Given the description of an element on the screen output the (x, y) to click on. 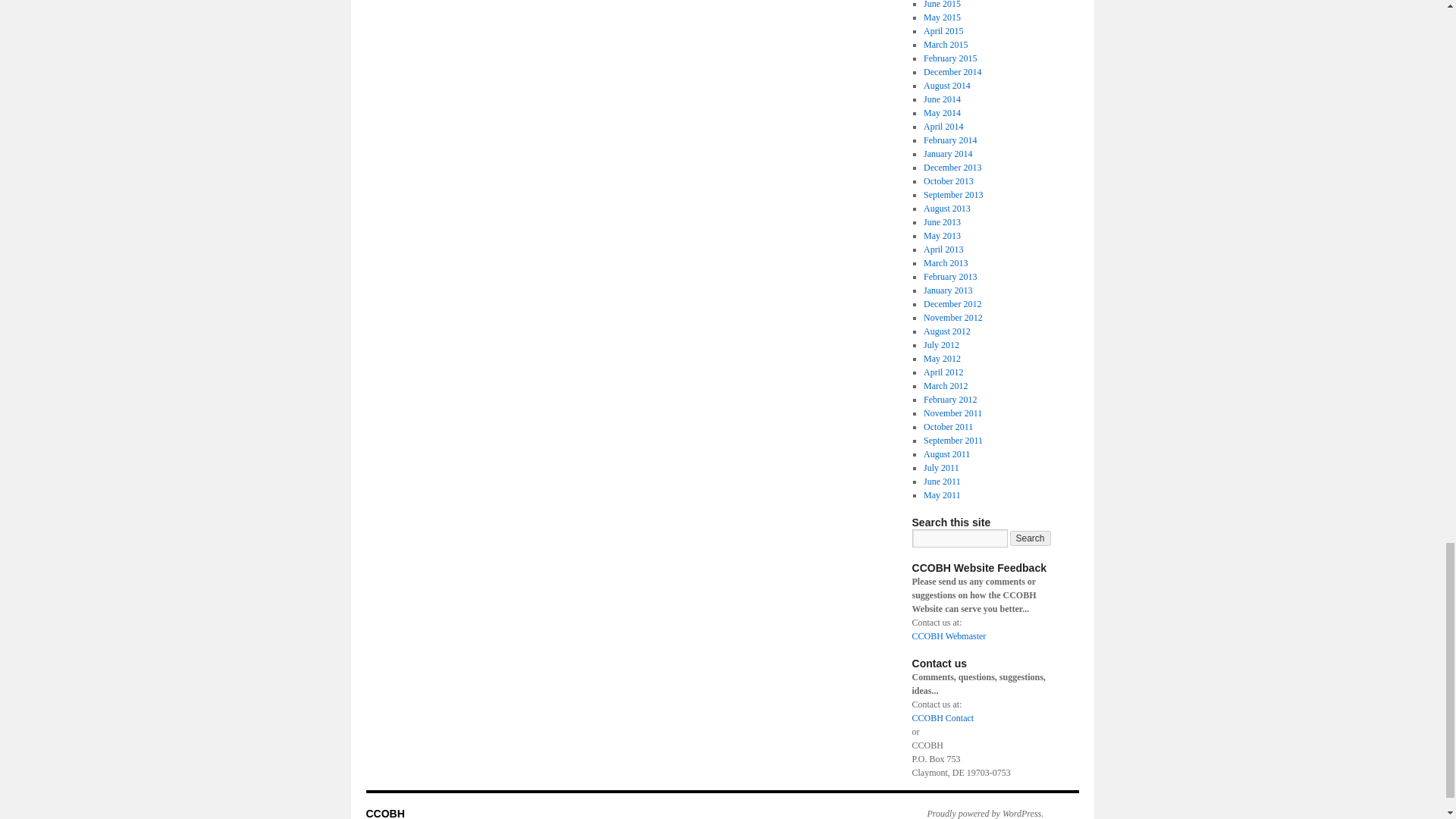
Search (1030, 538)
